Given the description of an element on the screen output the (x, y) to click on. 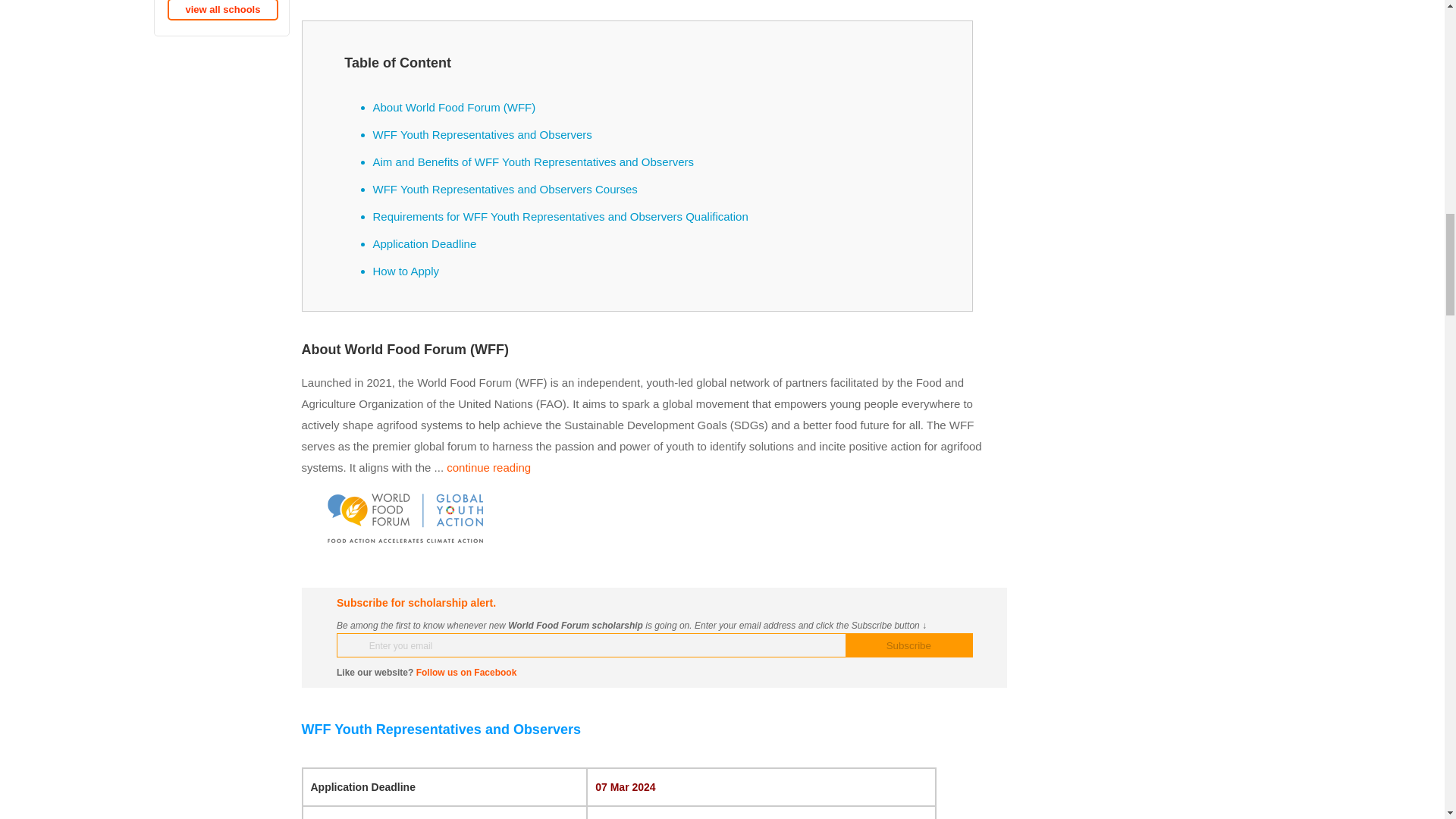
Subscribe (908, 644)
